Given the description of an element on the screen output the (x, y) to click on. 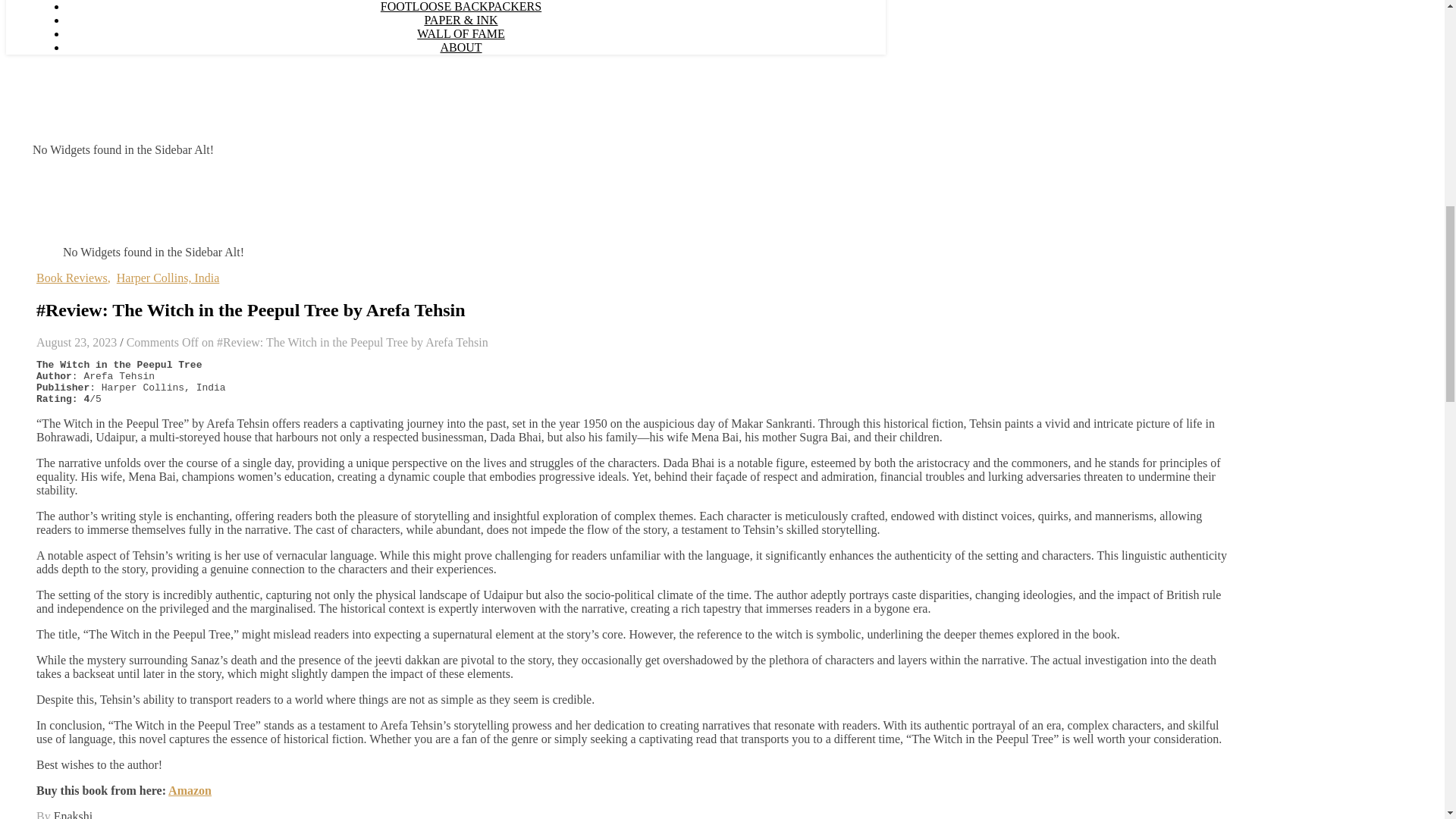
WALL OF FAME (460, 33)
ABOUT (460, 47)
Posts by Enakshi (73, 814)
FOOTLOOSE BACKPACKERS (460, 6)
